Given the description of an element on the screen output the (x, y) to click on. 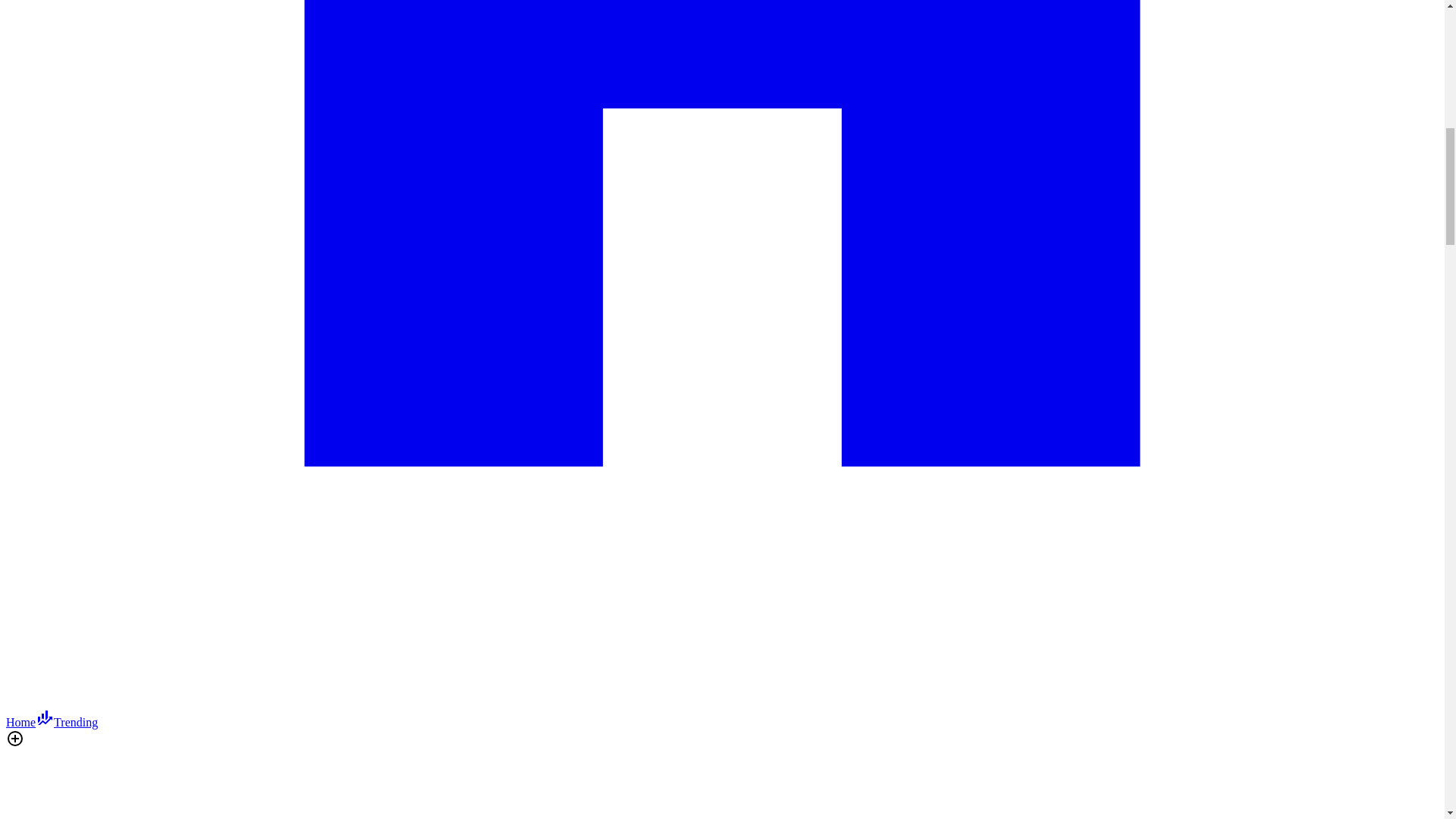
Trending (65, 721)
